Given the description of an element on the screen output the (x, y) to click on. 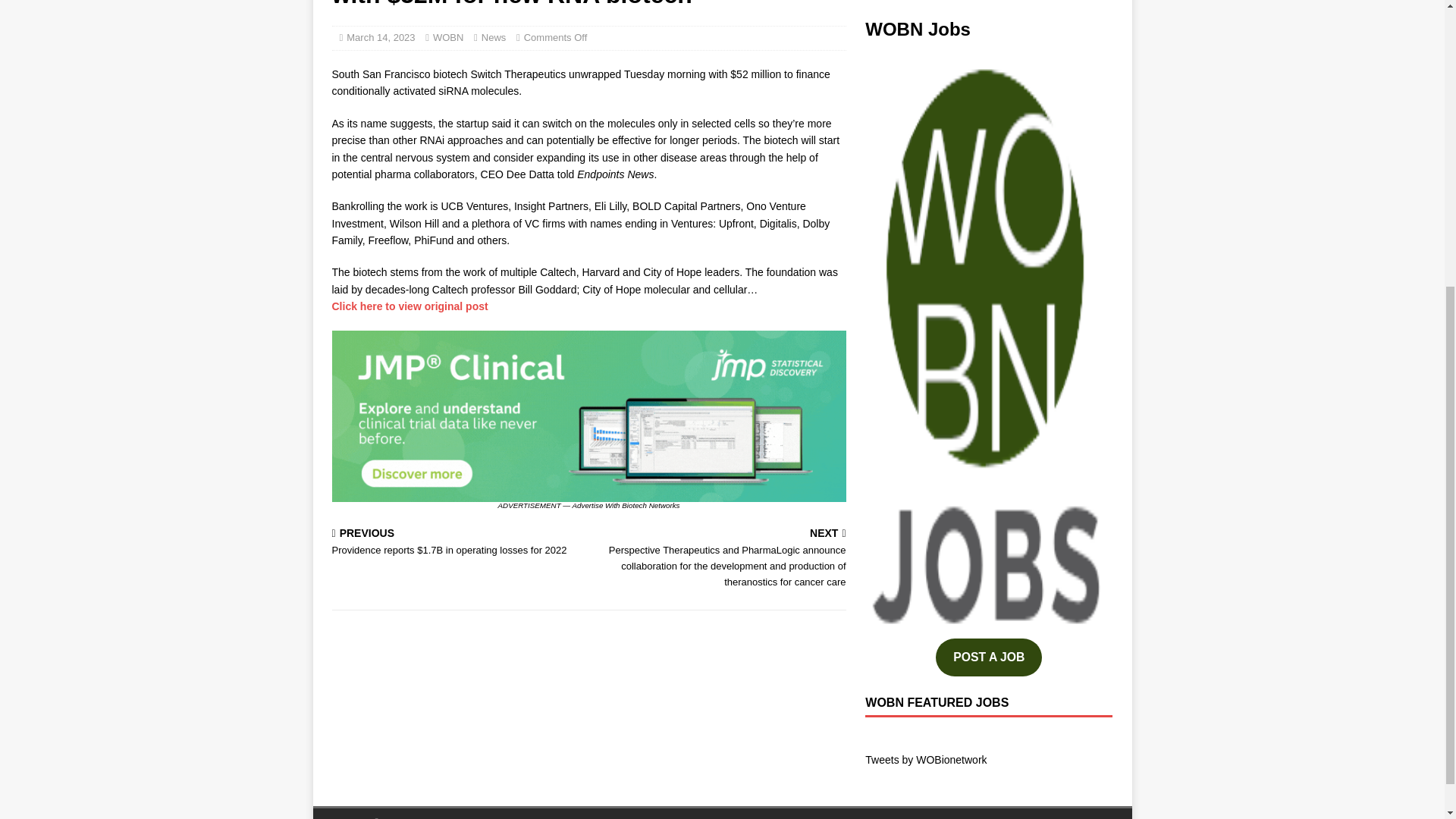
POST A JOB (989, 657)
March 14, 2023 (380, 37)
News (493, 37)
Click here to view original post (409, 306)
Tweets by WOBionetwork (925, 759)
WOBN FEATURED JOBS (936, 702)
WOBN (447, 37)
